Given the description of an element on the screen output the (x, y) to click on. 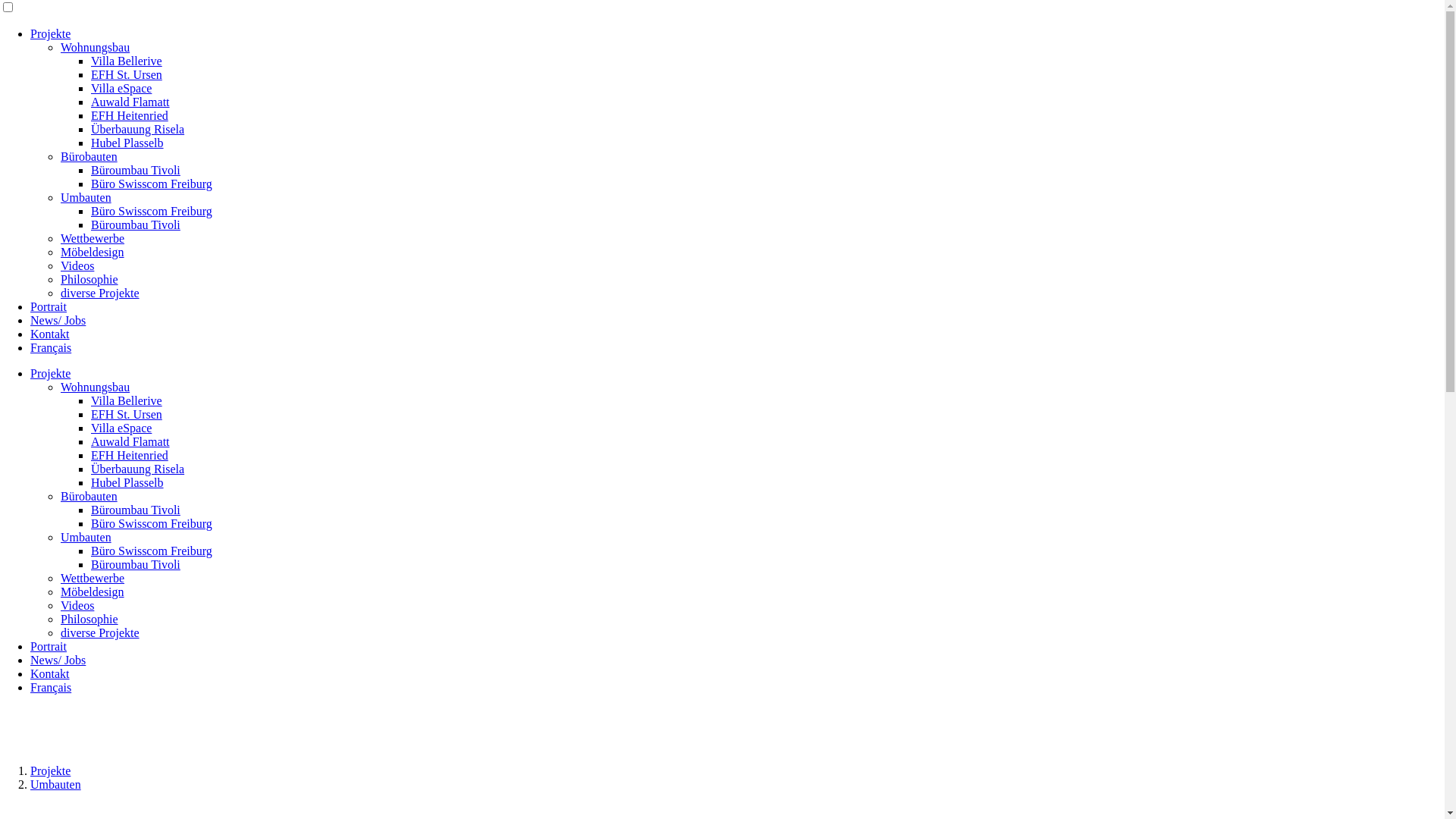
Philosophie Element type: text (89, 618)
Projekte Element type: text (50, 373)
Villa eSpace Element type: text (121, 87)
News/ Jobs Element type: text (57, 319)
Auwald Flamatt Element type: text (130, 441)
Umbauten Element type: text (85, 536)
Wohnungsbau Element type: text (94, 46)
Hubel Plasselb Element type: text (127, 482)
diverse Projekte Element type: text (99, 292)
Videos Element type: text (77, 605)
Auwald Flamatt Element type: text (130, 101)
EFH St. Ursen Element type: text (126, 74)
Portrait Element type: text (48, 306)
Kontakt Element type: text (49, 673)
EFH St. Ursen Element type: text (126, 413)
EFH Heitenried Element type: text (129, 454)
Kontakt Element type: text (49, 333)
Villa eSpace Element type: text (121, 427)
Umbauten Element type: text (55, 784)
Philosophie Element type: text (89, 279)
Projekte Element type: text (50, 33)
Wohnungsbau Element type: text (94, 386)
Hubel Plasselb Element type: text (127, 142)
Portrait Element type: text (48, 646)
Wettbewerbe Element type: text (92, 577)
Videos Element type: text (77, 265)
diverse Projekte Element type: text (99, 632)
News/ Jobs Element type: text (57, 659)
Umbauten Element type: text (85, 197)
Villa Bellerive Element type: text (126, 400)
Wettbewerbe Element type: text (92, 238)
Villa Bellerive Element type: text (126, 60)
Projekte Element type: text (50, 770)
EFH Heitenried Element type: text (129, 115)
